Given the description of an element on the screen output the (x, y) to click on. 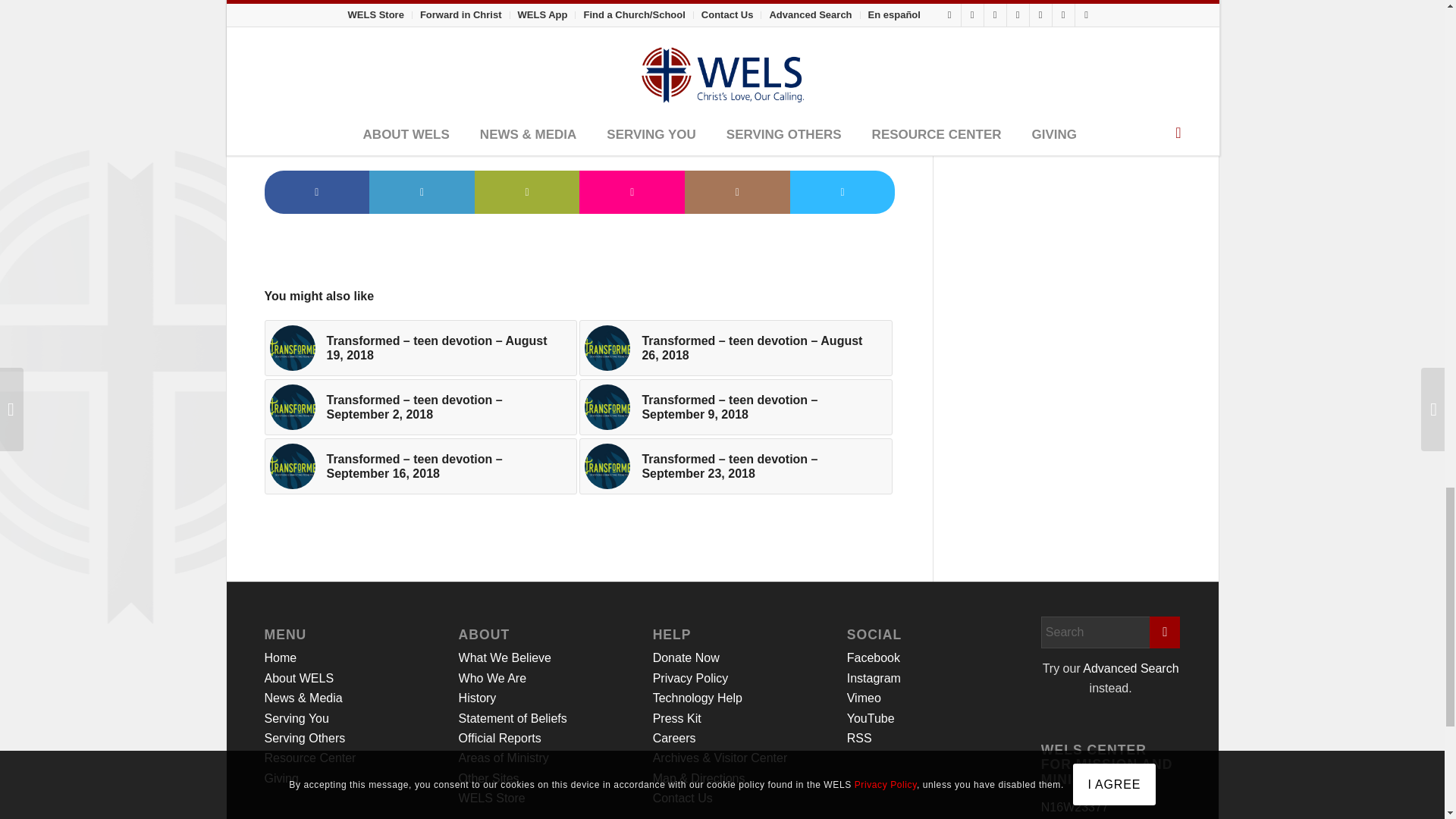
Creative Commons (564, 20)
